Given the description of an element on the screen output the (x, y) to click on. 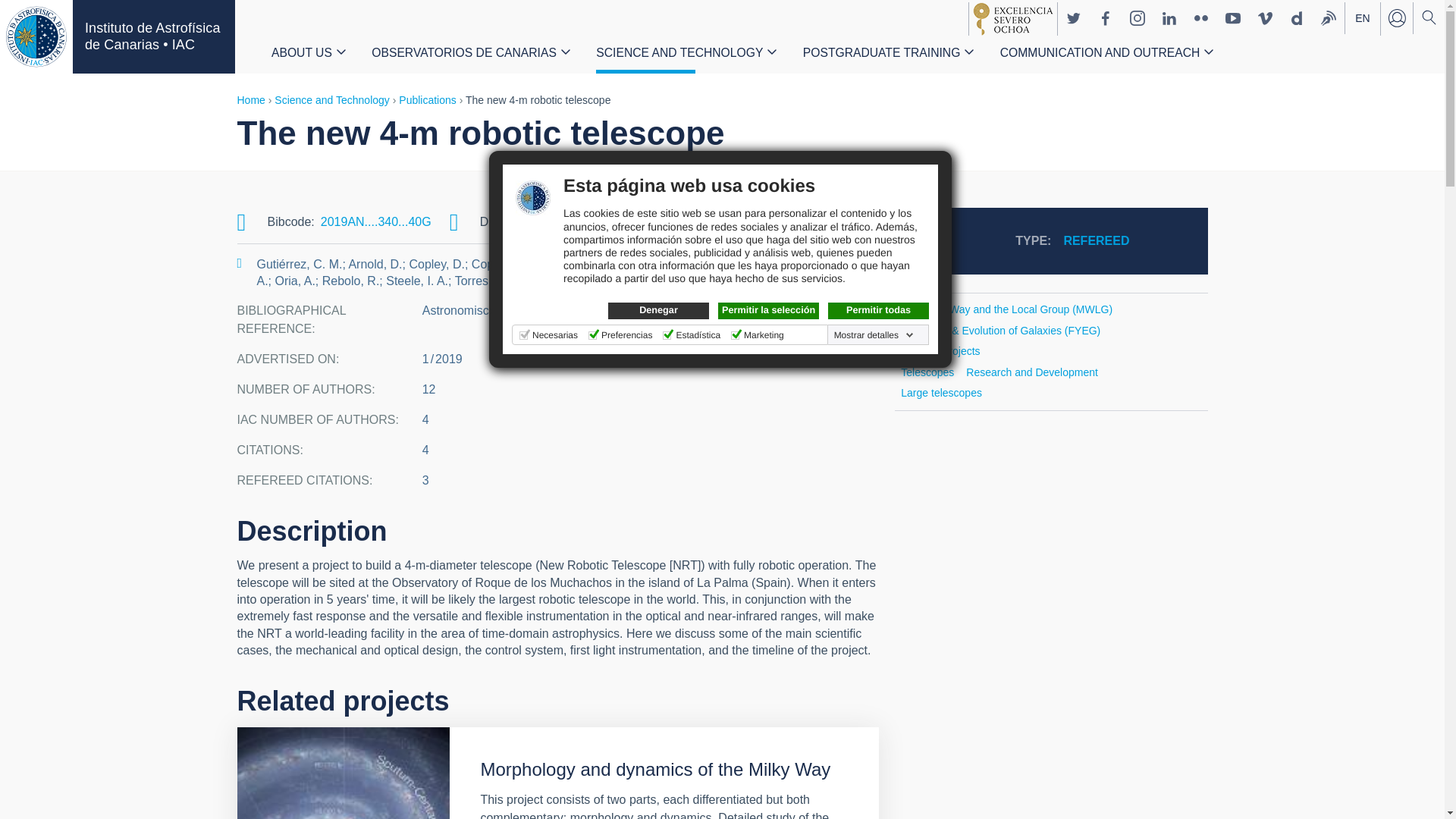
Permitir todas (878, 310)
Mostrar detalles (874, 335)
Denegar (658, 310)
